Given the description of an element on the screen output the (x, y) to click on. 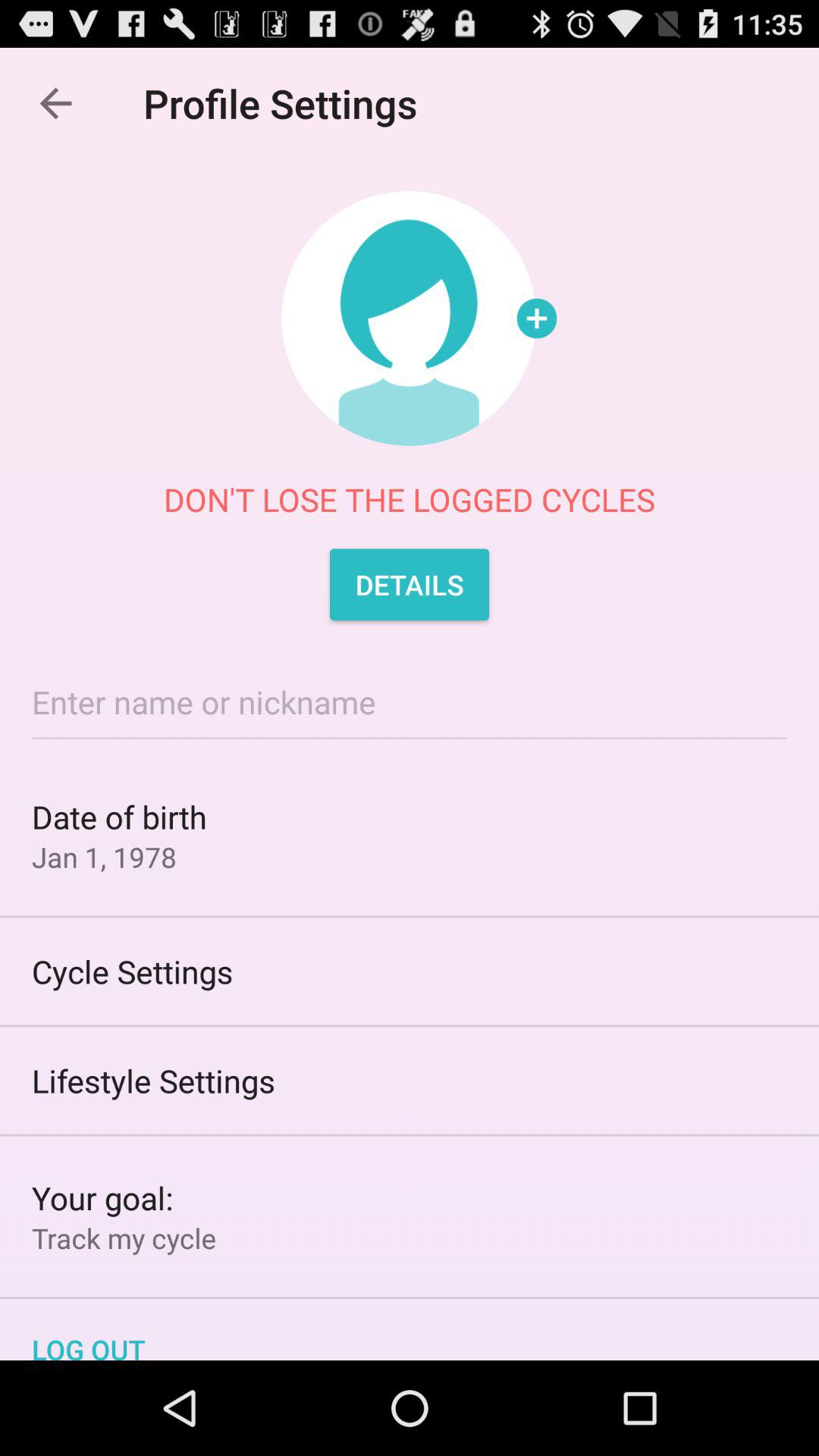
launch details icon (409, 584)
